Given the description of an element on the screen output the (x, y) to click on. 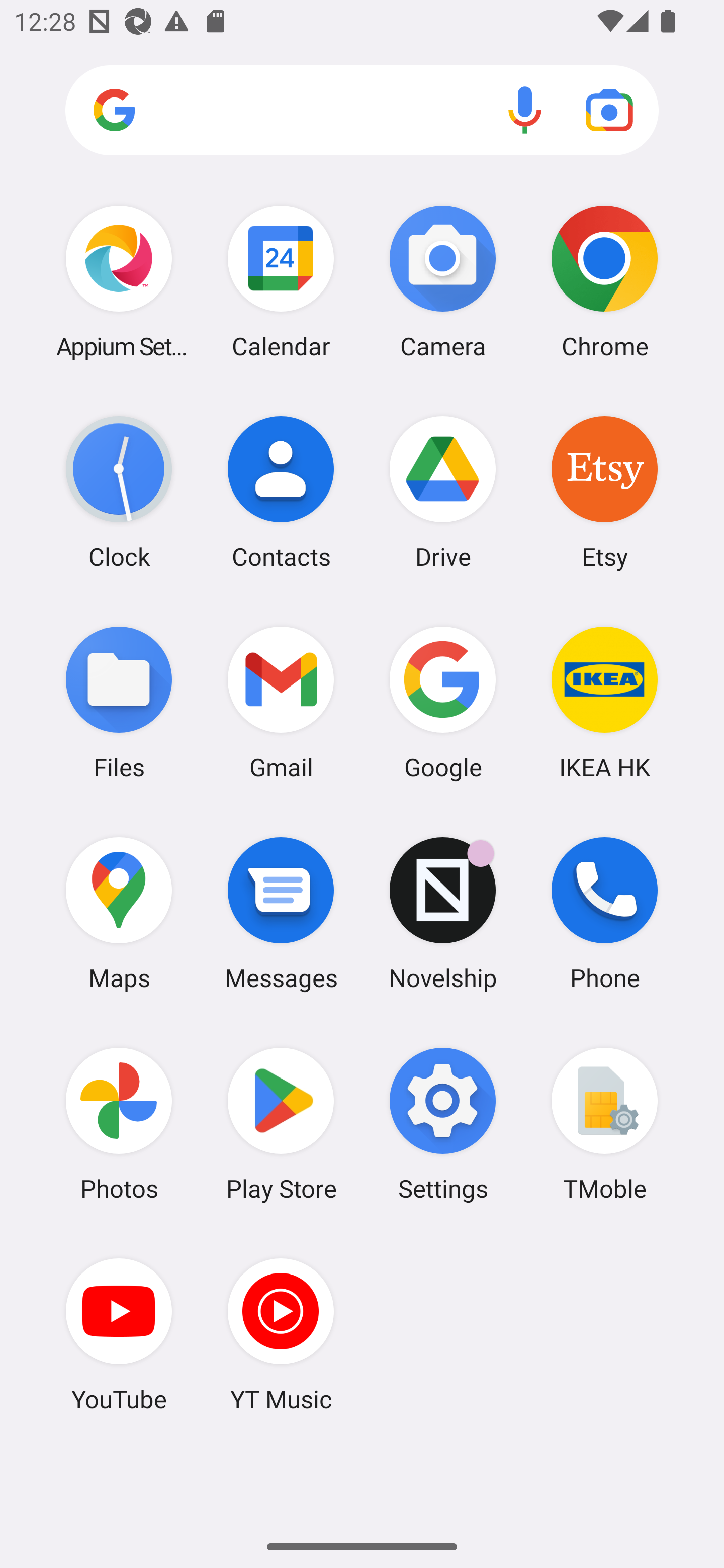
Search apps, web and more (361, 110)
Voice search (524, 109)
Google Lens (608, 109)
Appium Settings (118, 281)
Calendar (280, 281)
Camera (443, 281)
Chrome (604, 281)
Clock (118, 492)
Contacts (280, 492)
Drive (443, 492)
Etsy (604, 492)
Files (118, 702)
Gmail (280, 702)
Google (443, 702)
IKEA HK (604, 702)
Maps (118, 913)
Messages (280, 913)
Novelship Novelship has 7 notifications (443, 913)
Phone (604, 913)
Photos (118, 1124)
Play Store (280, 1124)
Settings (443, 1124)
TMoble (604, 1124)
YouTube (118, 1334)
YT Music (280, 1334)
